Given the description of an element on the screen output the (x, y) to click on. 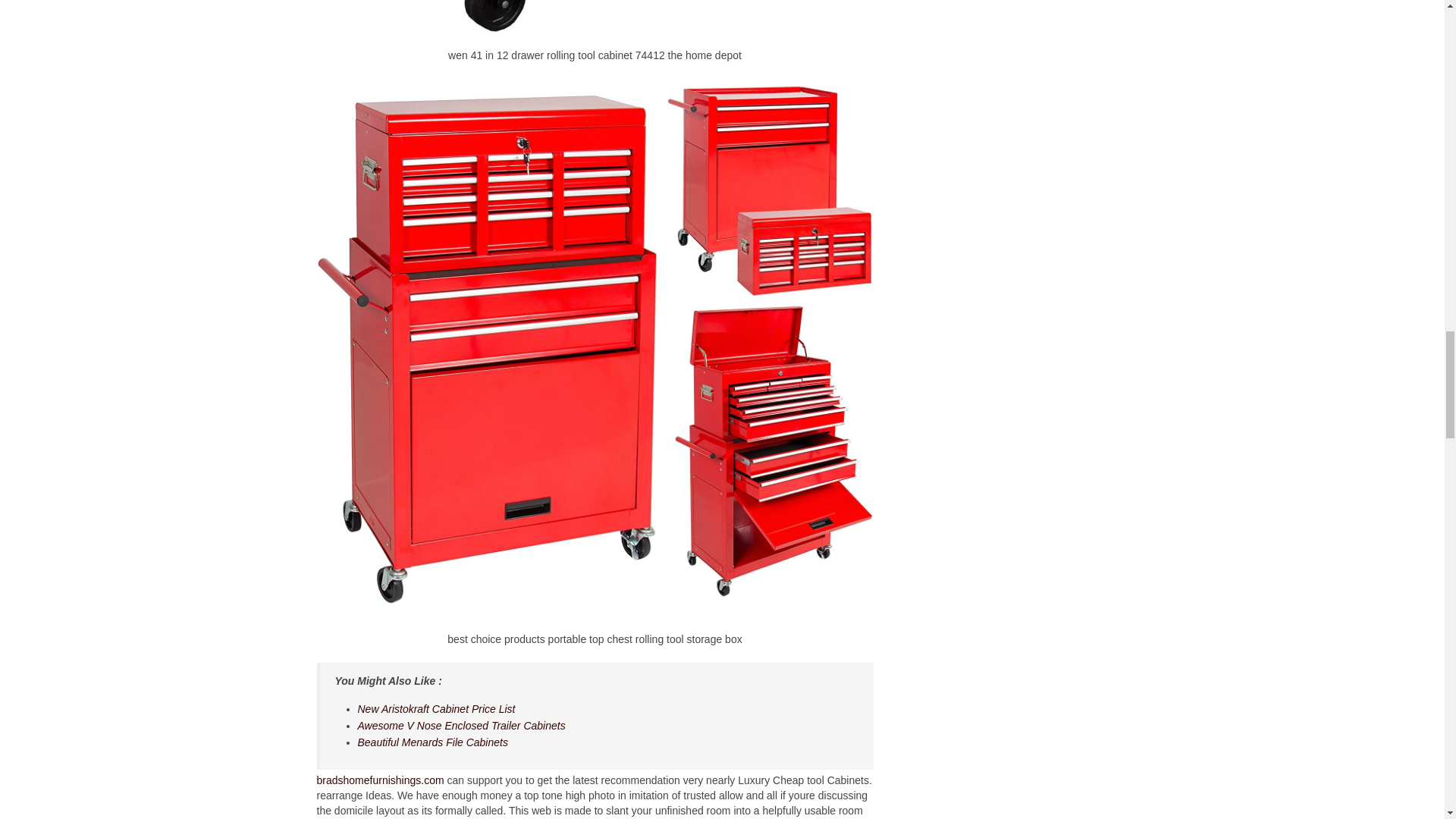
bradshomefurnishings.com (380, 779)
New Aristokraft Cabinet Price List (436, 708)
Beautiful Menards File Cabinets (433, 742)
Awesome V Nose Enclosed Trailer Cabinets (462, 725)
